Given the description of an element on the screen output the (x, y) to click on. 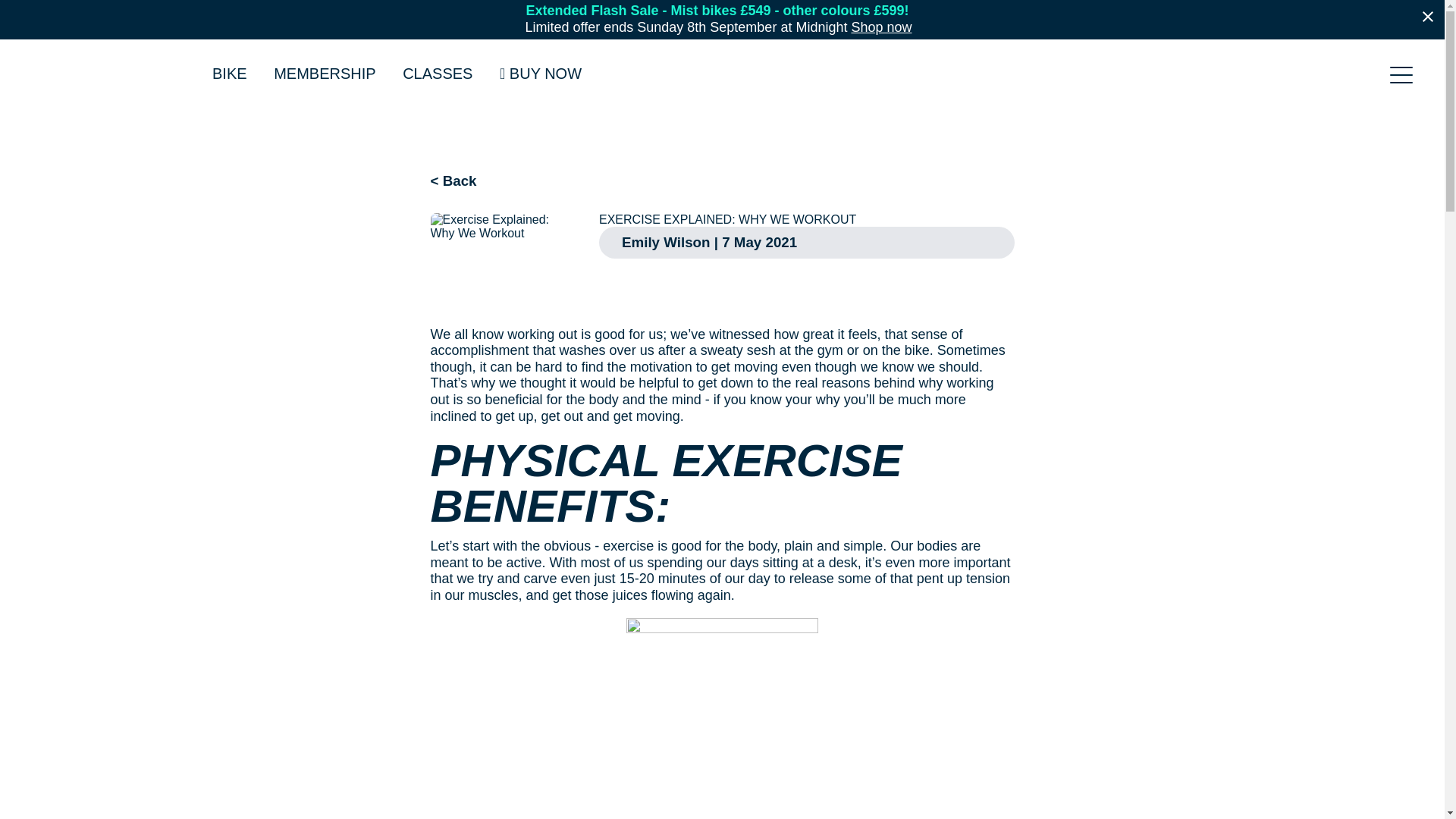
CLASSES (437, 73)
BIKE (229, 73)
Apex (99, 71)
Shop now (880, 27)
MEMBERSHIP (324, 73)
